Given the description of an element on the screen output the (x, y) to click on. 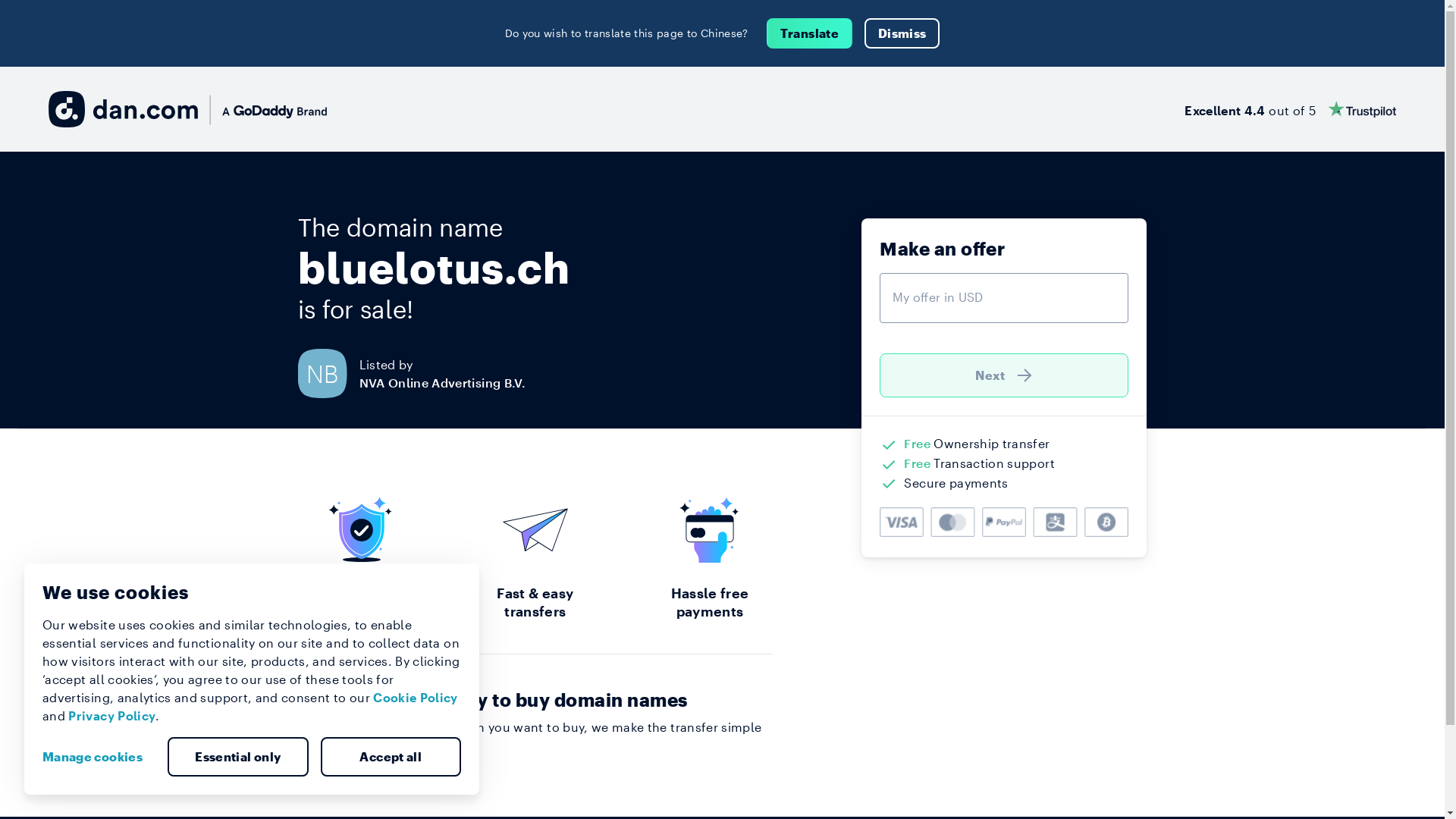
Accept all Element type: text (390, 756)
Manage cookies Element type: text (98, 756)
Translate Element type: text (809, 33)
Dismiss Element type: text (901, 33)
Cookie Policy Element type: text (415, 697)
Next
) Element type: text (1003, 375)
Excellent 4.4 out of 5 Element type: text (1290, 109)
Privacy Policy Element type: text (111, 715)
Essential only Element type: text (237, 756)
